Given the description of an element on the screen output the (x, y) to click on. 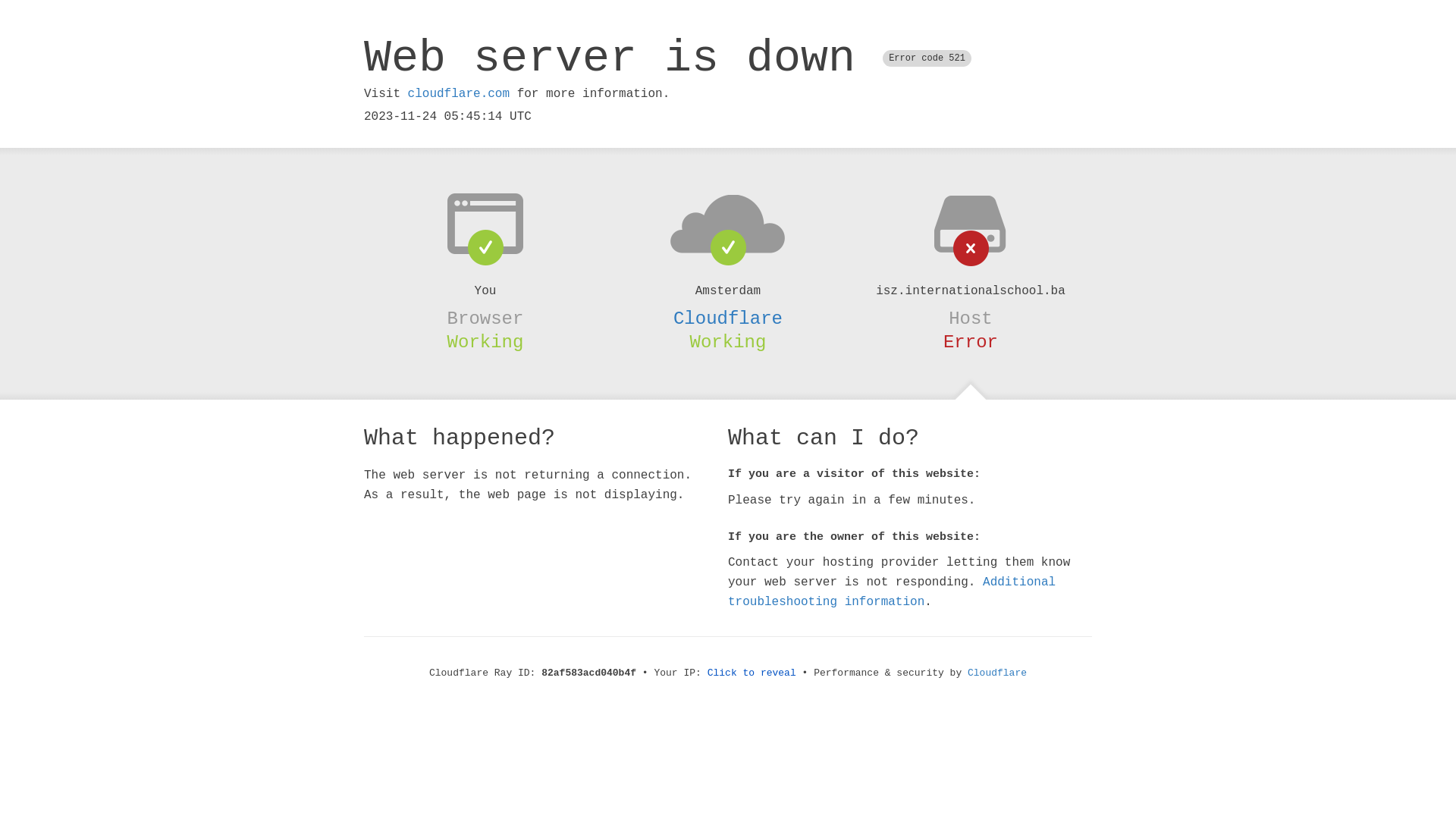
cloudflare.com Element type: text (458, 93)
Cloudflare Element type: text (727, 318)
Click to reveal Element type: text (751, 672)
Additional troubleshooting information Element type: text (891, 591)
Cloudflare Element type: text (996, 672)
